Given the description of an element on the screen output the (x, y) to click on. 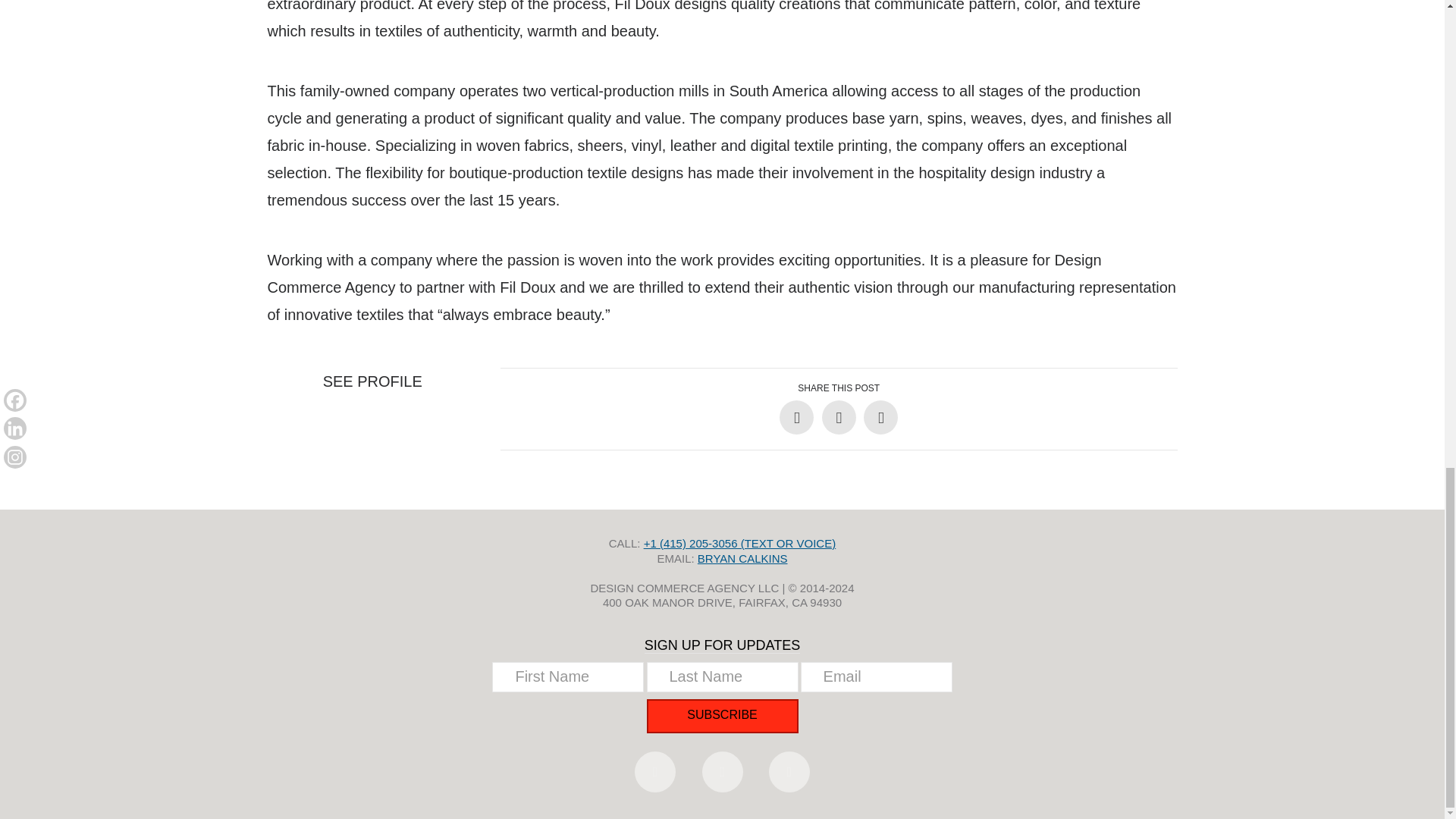
Share on Pinterest (880, 417)
Subscribe (721, 716)
Share on Twitter (839, 417)
Subscribe (721, 716)
BRYAN CALKINS (742, 557)
Share on Facebook (795, 417)
Instagram (788, 771)
LinkedIn (721, 771)
Facebook (654, 771)
